Given the description of an element on the screen output the (x, y) to click on. 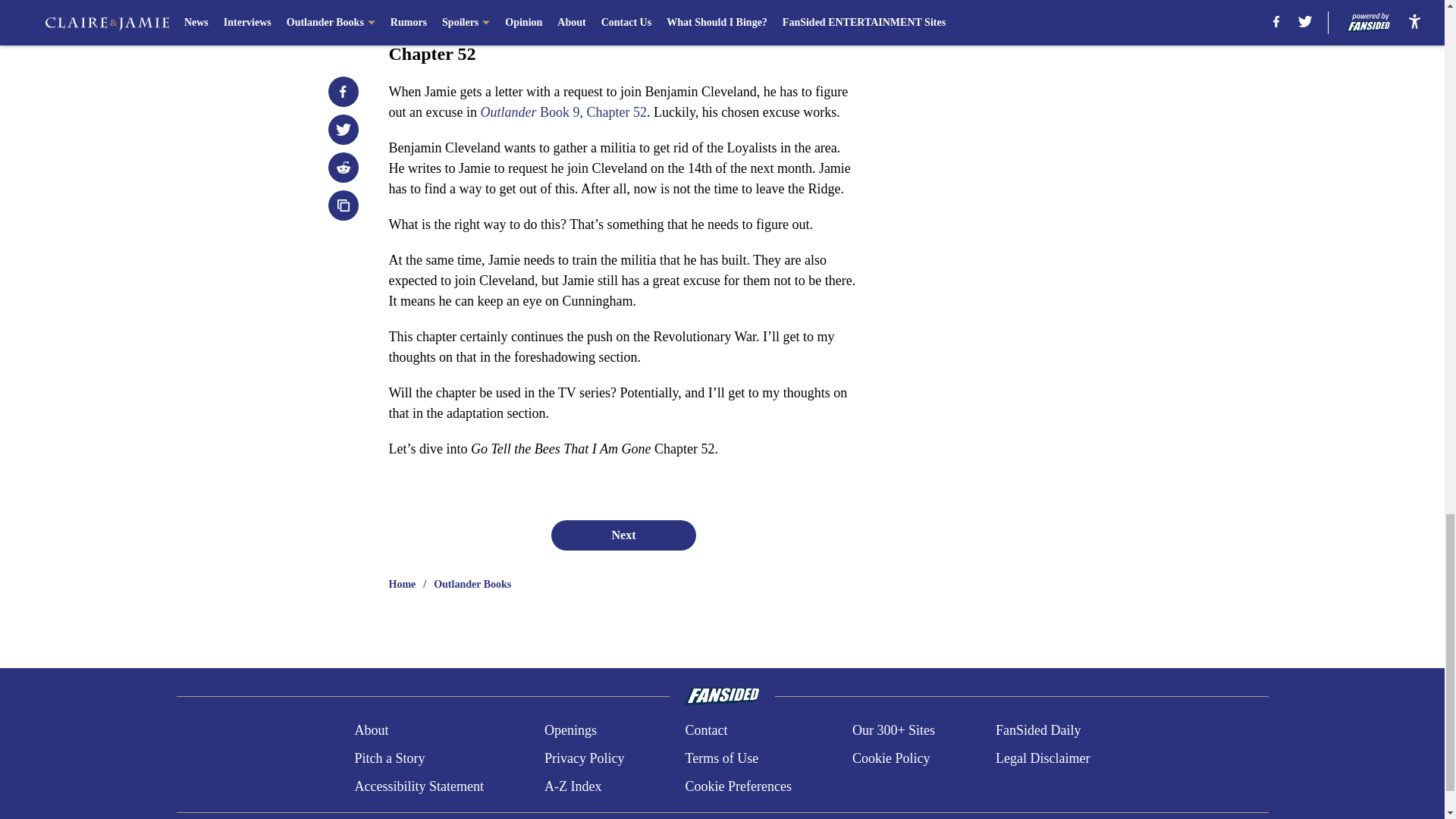
Openings (570, 730)
Home (401, 584)
Outlander Book 9, Chapter 52 (563, 111)
About (370, 730)
Next (622, 535)
Privacy Policy (584, 758)
Terms of Use (721, 758)
FanSided Daily (1038, 730)
Pitch a Story (389, 758)
Outlander Books (472, 584)
